Given the description of an element on the screen output the (x, y) to click on. 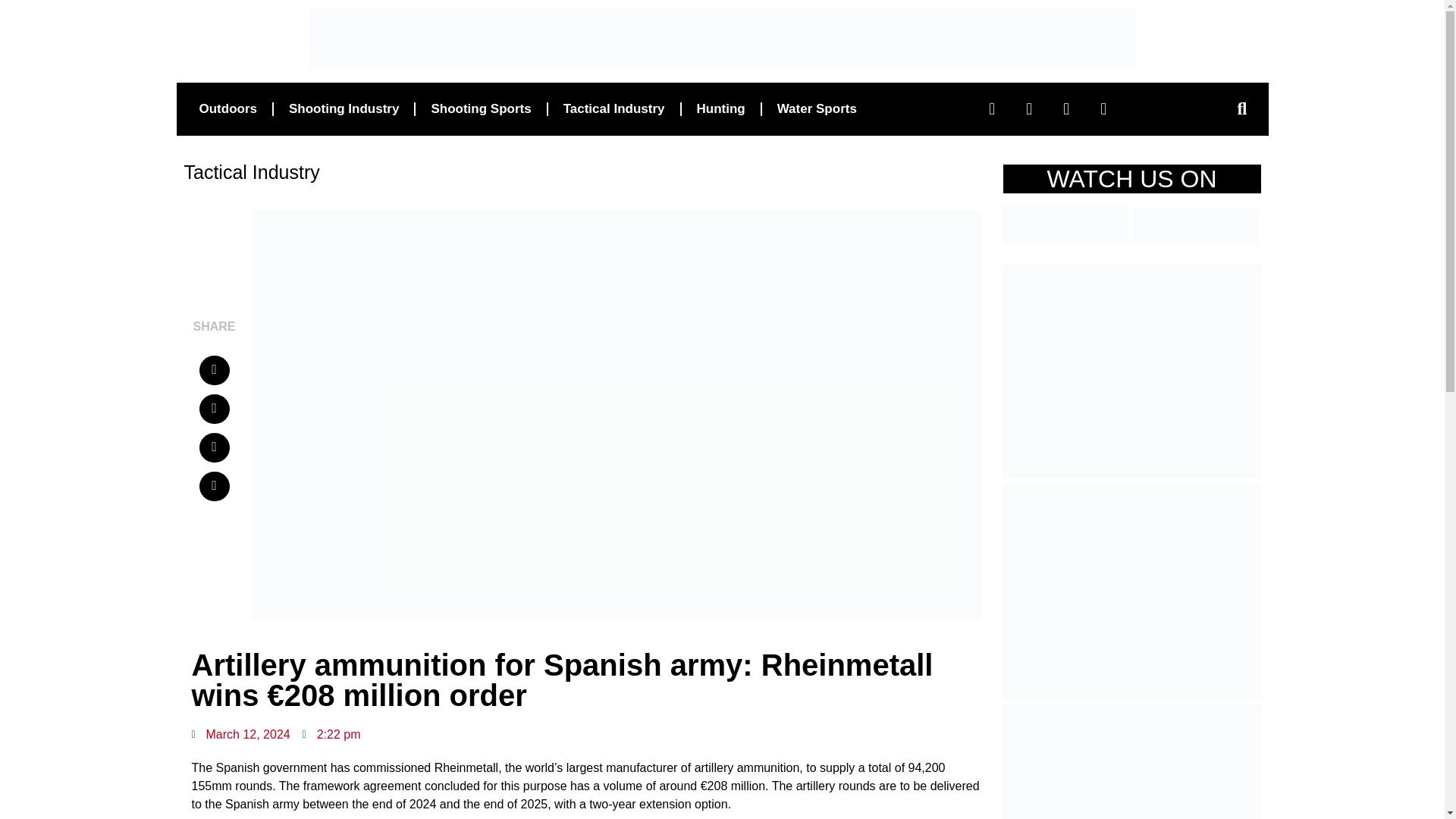
Tactical Industry (613, 108)
March 12, 2024 (239, 734)
Water Sports (816, 108)
Hunting (720, 108)
Outdoors (227, 108)
Shooting Industry (343, 108)
Shooting Sports (480, 108)
